Given the description of an element on the screen output the (x, y) to click on. 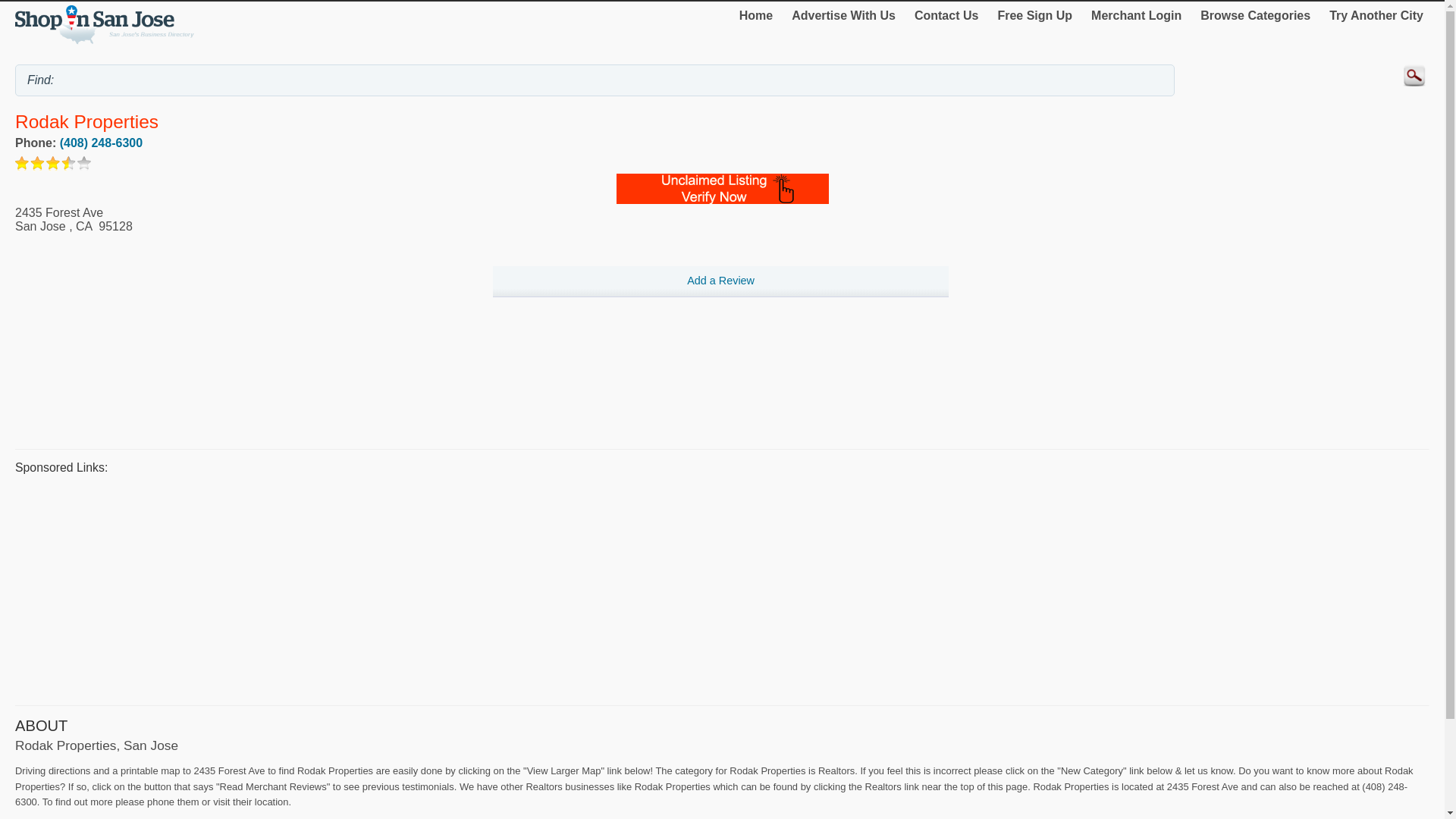
Add a Review (721, 281)
Contact Us (946, 15)
Find:  (594, 80)
Home (755, 15)
Try Another City (1376, 15)
Browse Categories (1254, 15)
Advertise With Us (843, 15)
Merchant Login (1136, 15)
Free Sign Up (1034, 15)
Find:  (594, 80)
